Given the description of an element on the screen output the (x, y) to click on. 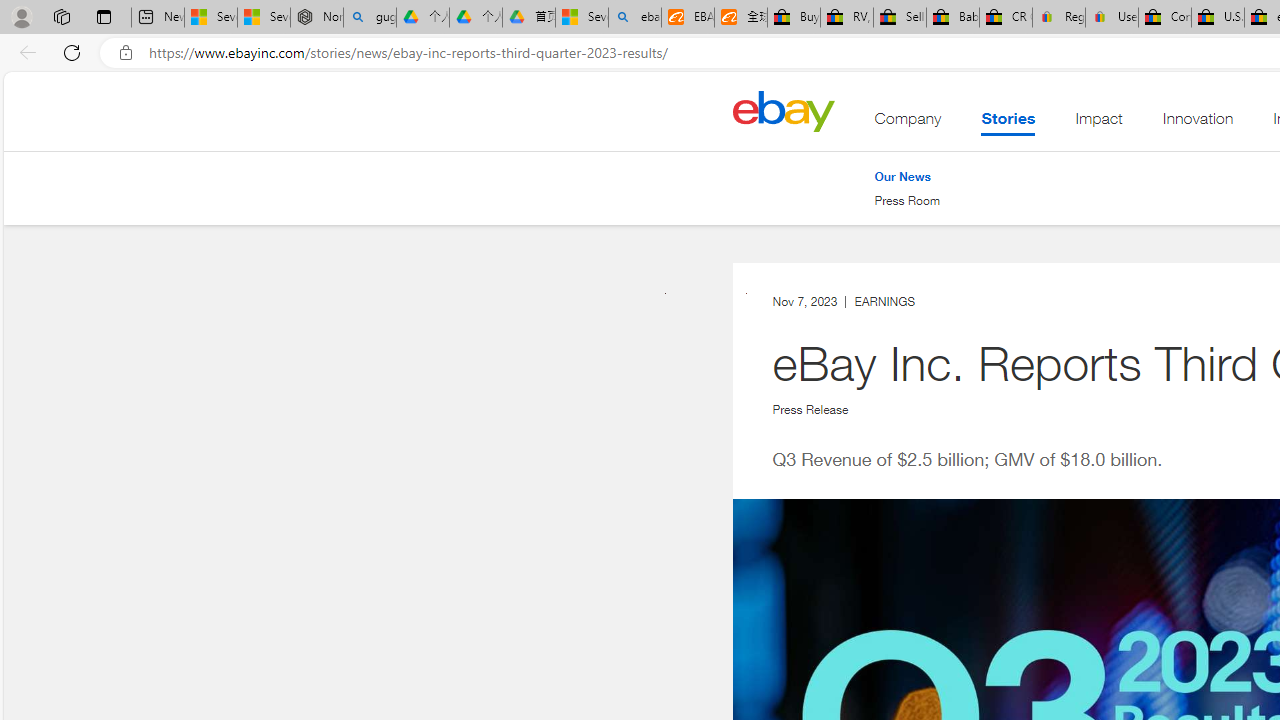
Company (908, 123)
User Privacy Notice | eBay (1111, 17)
Impact (1098, 123)
Home (783, 110)
RV, Trailer & Camper Steps & Ladders for sale | eBay (846, 17)
guge yunpan - Search (369, 17)
Press Room (907, 200)
Buy Auto Parts & Accessories | eBay (794, 17)
Stories . This is the current section. (1007, 123)
Refresh (72, 52)
Tab actions menu (104, 16)
Personal Profile (21, 16)
